Given the description of an element on the screen output the (x, y) to click on. 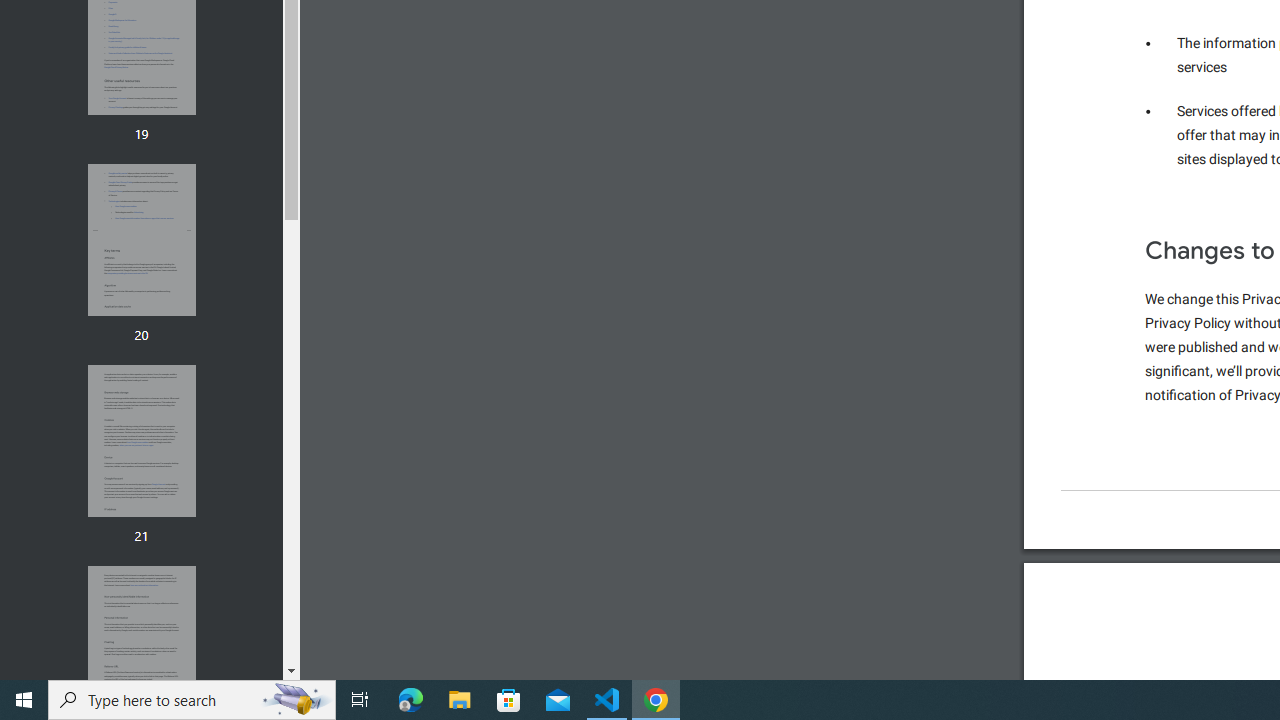
Thumbnail for page 21 (141, 441)
AutomationID: thumbnail (141, 641)
Thumbnail for page 20 (141, 240)
